Given the description of an element on the screen output the (x, y) to click on. 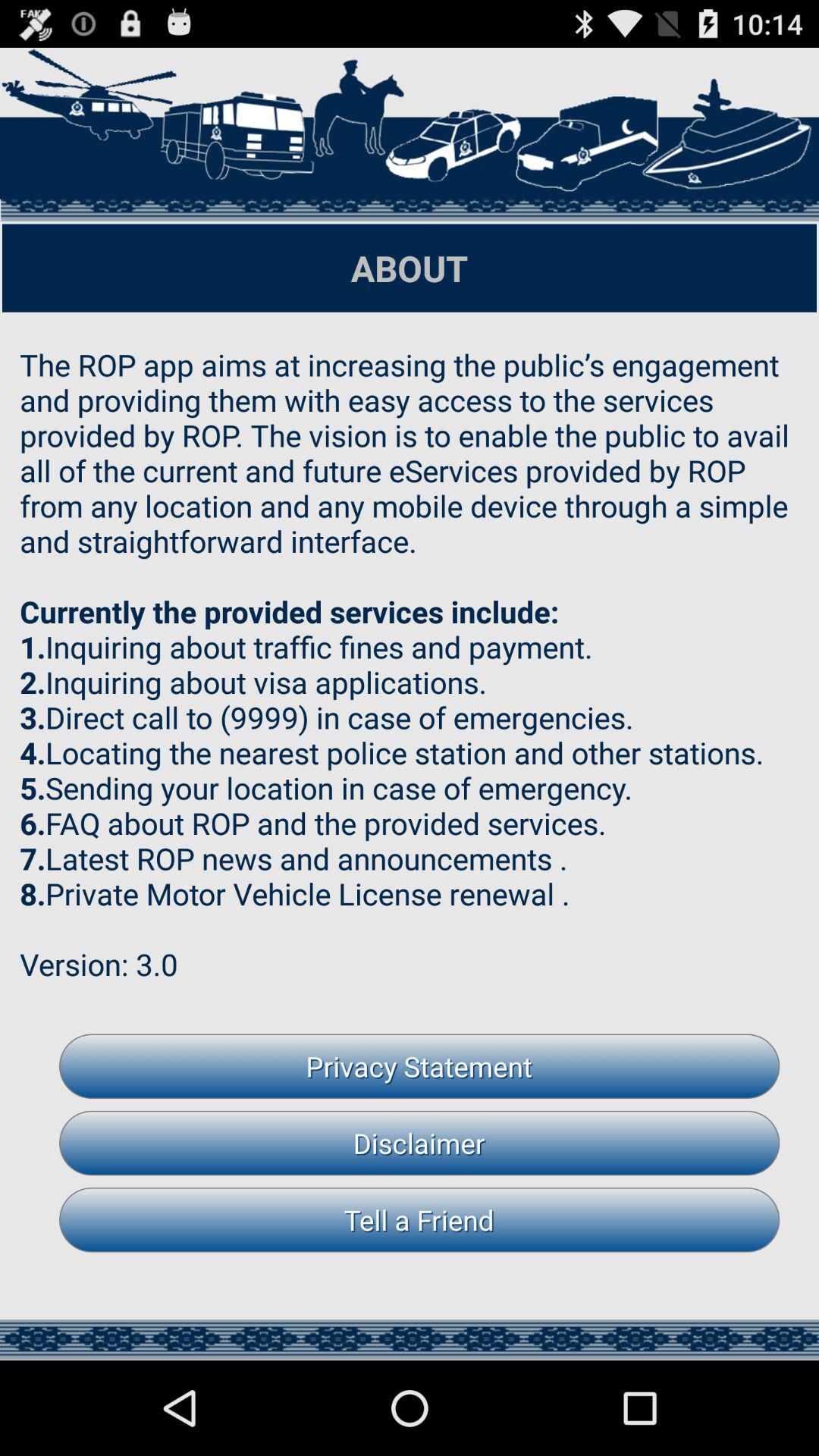
tap button below privacy statement button (419, 1142)
